Given the description of an element on the screen output the (x, y) to click on. 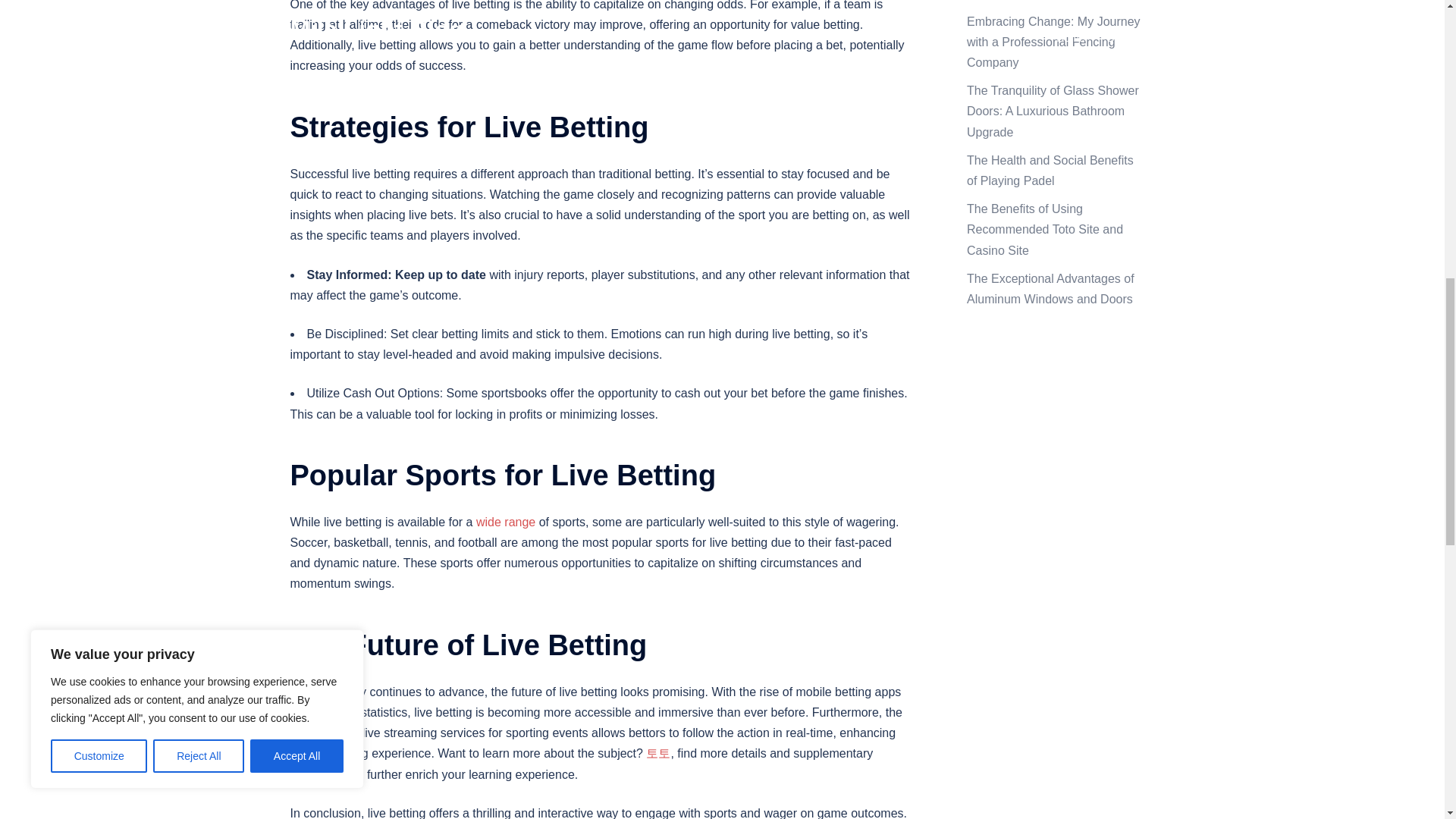
wide range (505, 521)
